Given the description of an element on the screen output the (x, y) to click on. 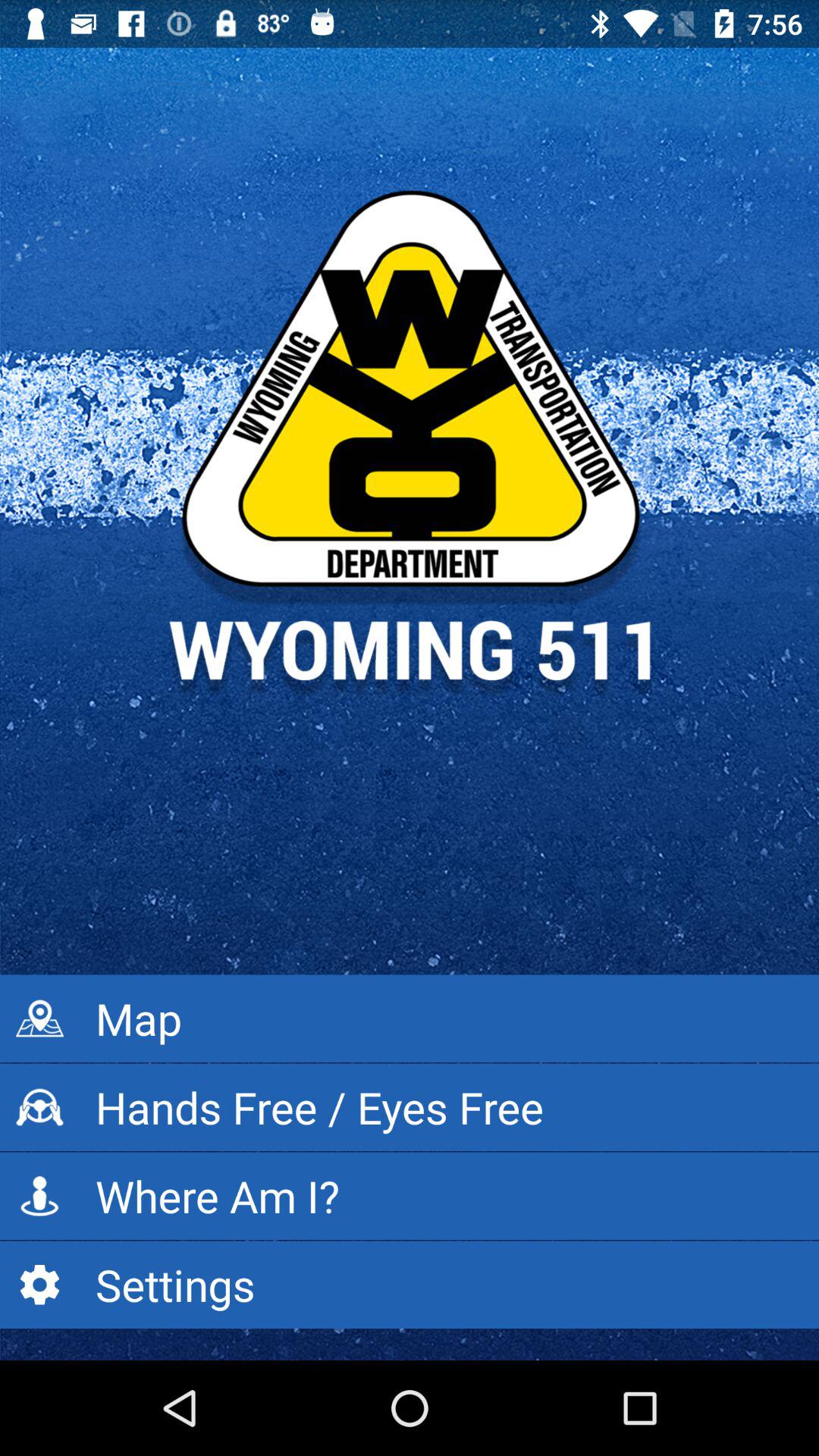
launch the icon above the where am i? icon (409, 1107)
